Given the description of an element on the screen output the (x, y) to click on. 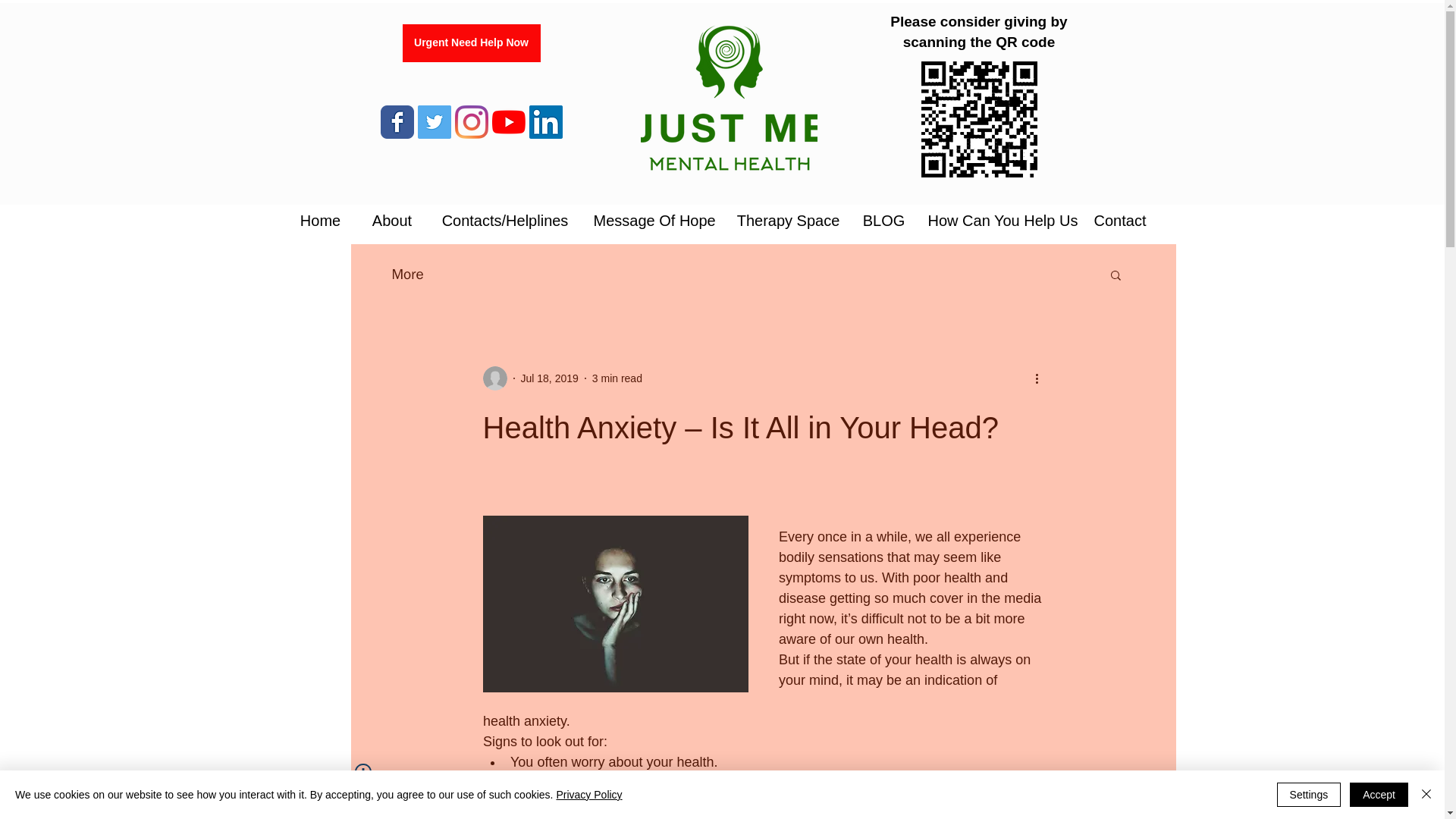
Jul 18, 2019 (548, 377)
About (392, 220)
3 min read (617, 377)
Privacy Policy (588, 794)
Message Of Hope (653, 220)
Contact (1119, 220)
How Can You Help Us (996, 220)
More (407, 274)
Therapy Space (787, 220)
Home (320, 220)
Urgent Need Help Now (470, 43)
Please consider donation  (978, 119)
BLOG (882, 220)
